Given the description of an element on the screen output the (x, y) to click on. 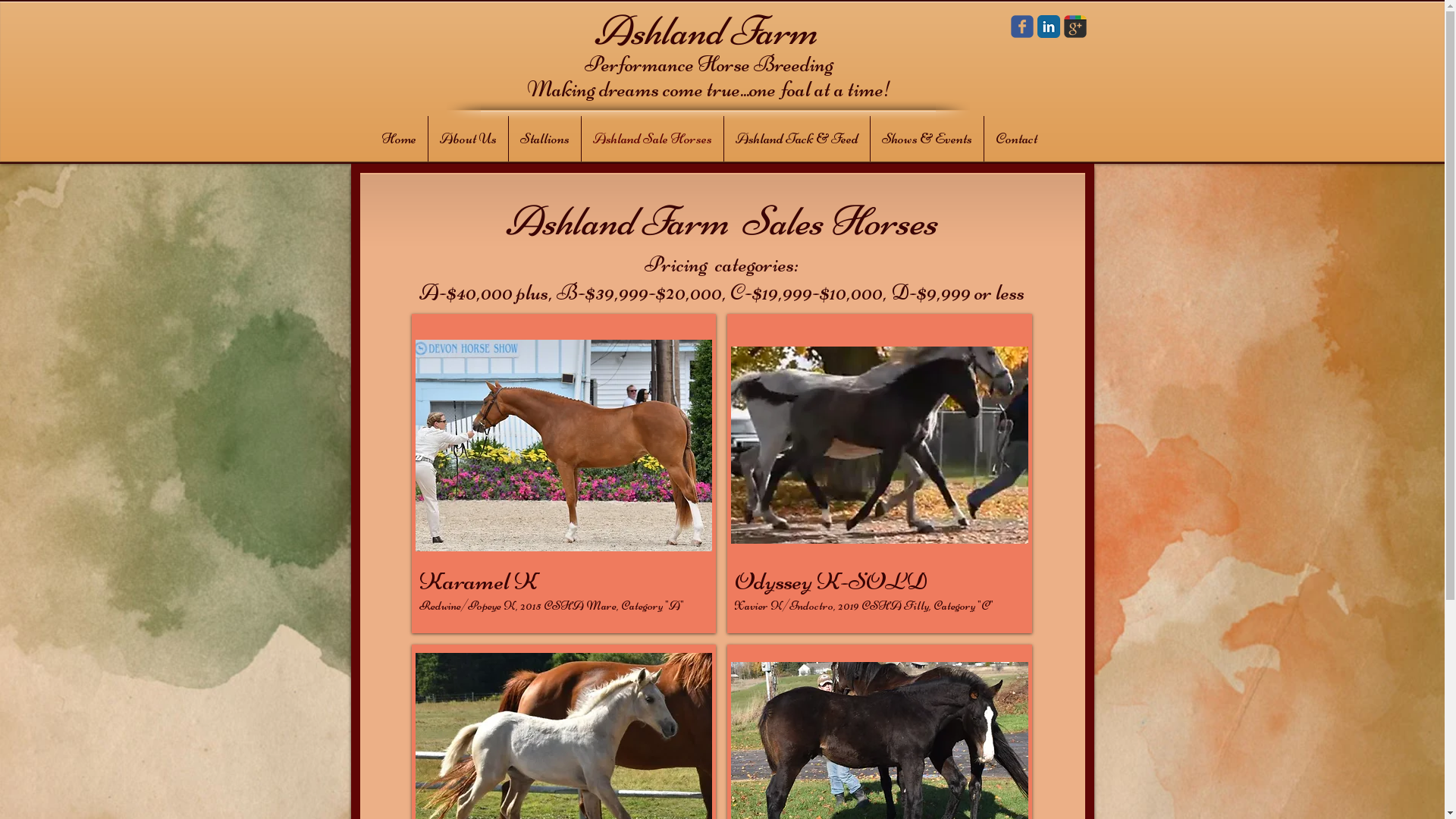
Stallions Element type: text (544, 138)
Shows & Events Element type: text (926, 138)
Contact Element type: text (1016, 138)
About Us Element type: text (467, 138)
Ashland Sale Horses Element type: text (651, 138)
Ashland Tack & Feed Element type: text (796, 138)
Home Element type: text (398, 138)
